Given the description of an element on the screen output the (x, y) to click on. 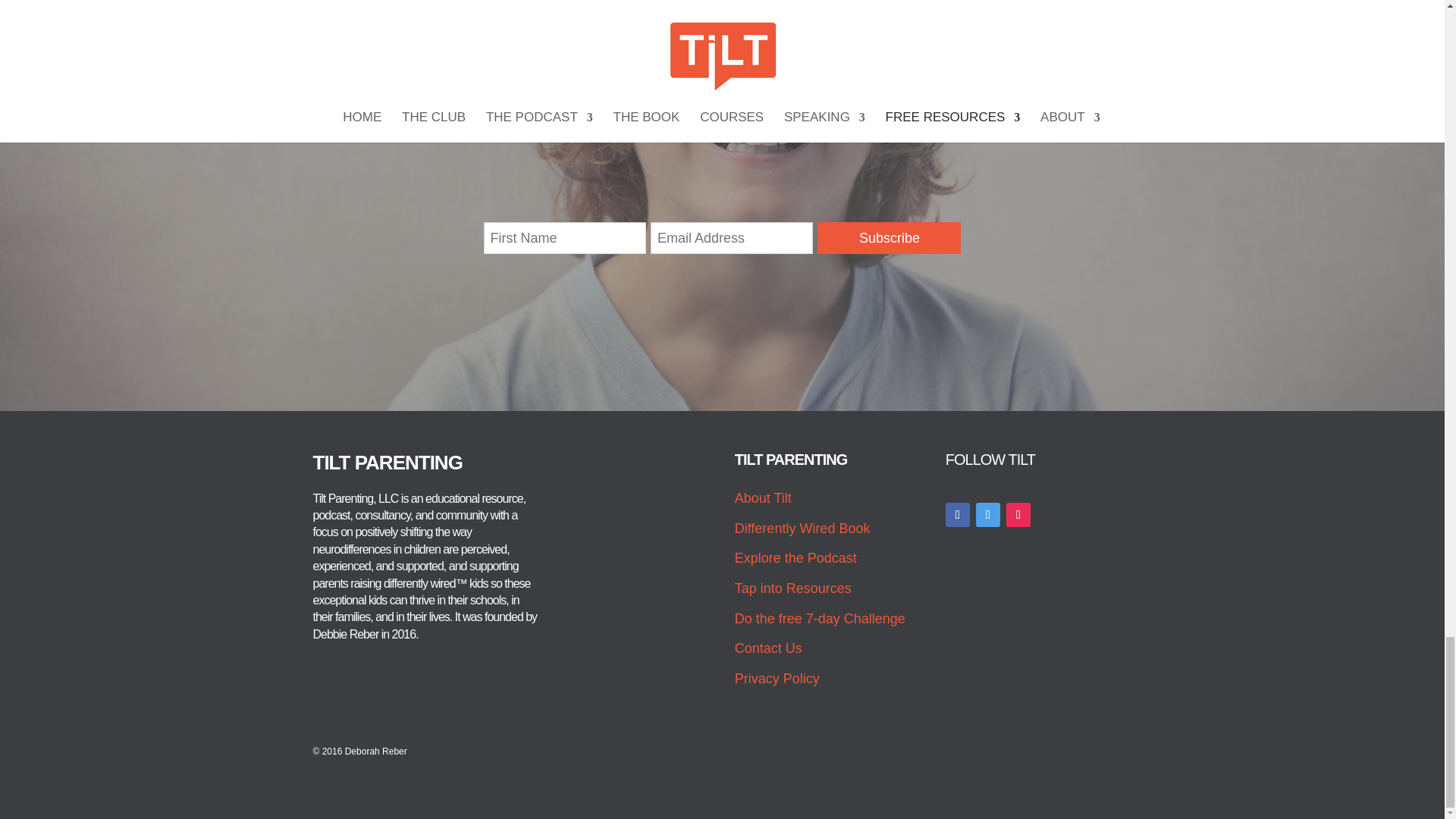
Follow on Twitter (987, 514)
Follow on Instagram (1018, 514)
Follow on Facebook (956, 514)
